Given the description of an element on the screen output the (x, y) to click on. 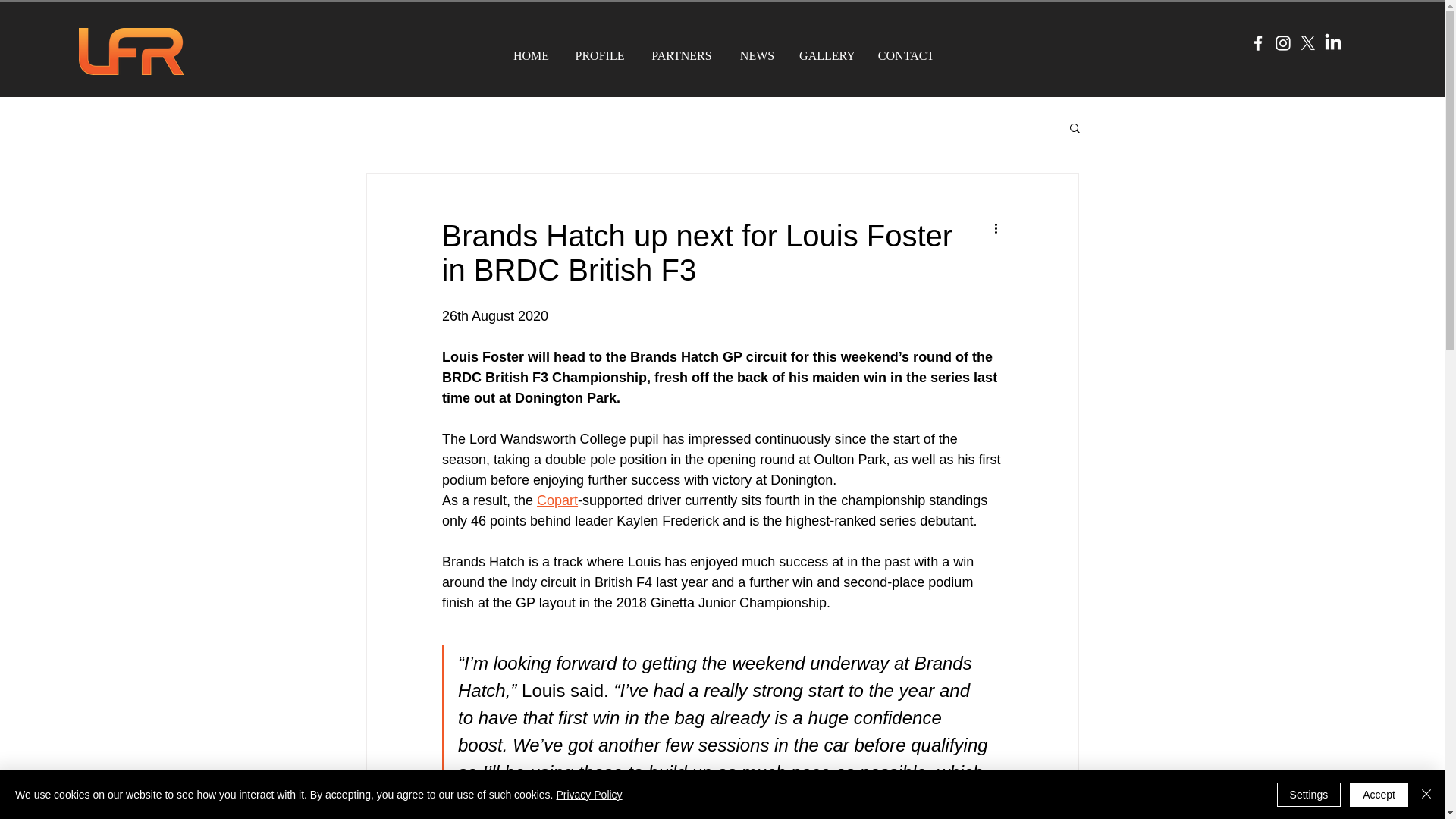
PROFILE (599, 48)
PARTNERS (681, 48)
Copart (557, 500)
CONTACT (905, 48)
HOME (531, 48)
NEWS (757, 48)
GALLERY (827, 48)
